Given the description of an element on the screen output the (x, y) to click on. 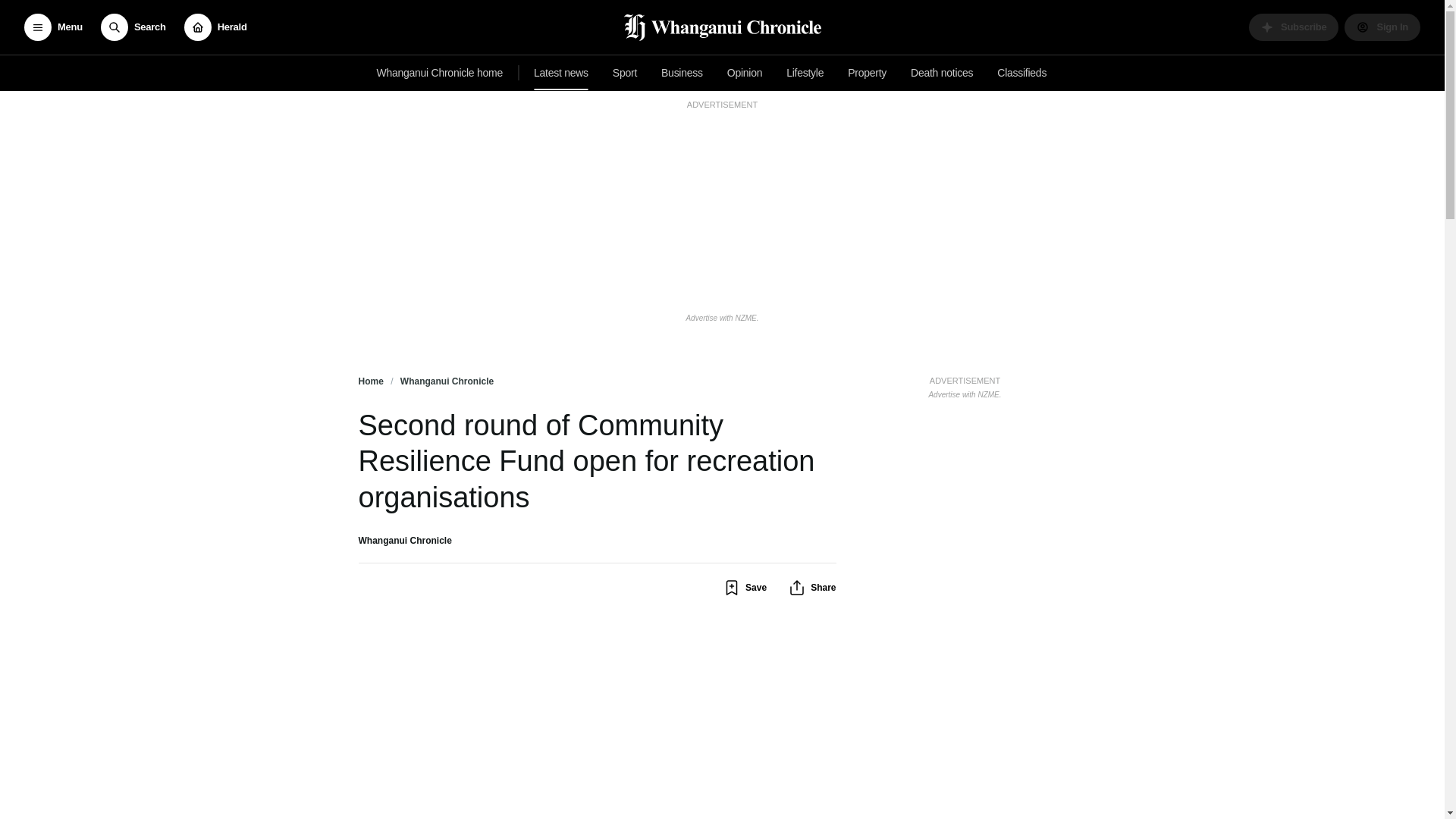
Latest news (560, 72)
Subscribe (1294, 26)
Classifieds (1021, 72)
Lifestyle (804, 72)
Death notices (941, 72)
Sport (625, 72)
Search (964, 384)
Opinion (132, 26)
Menu (744, 72)
